Given the description of an element on the screen output the (x, y) to click on. 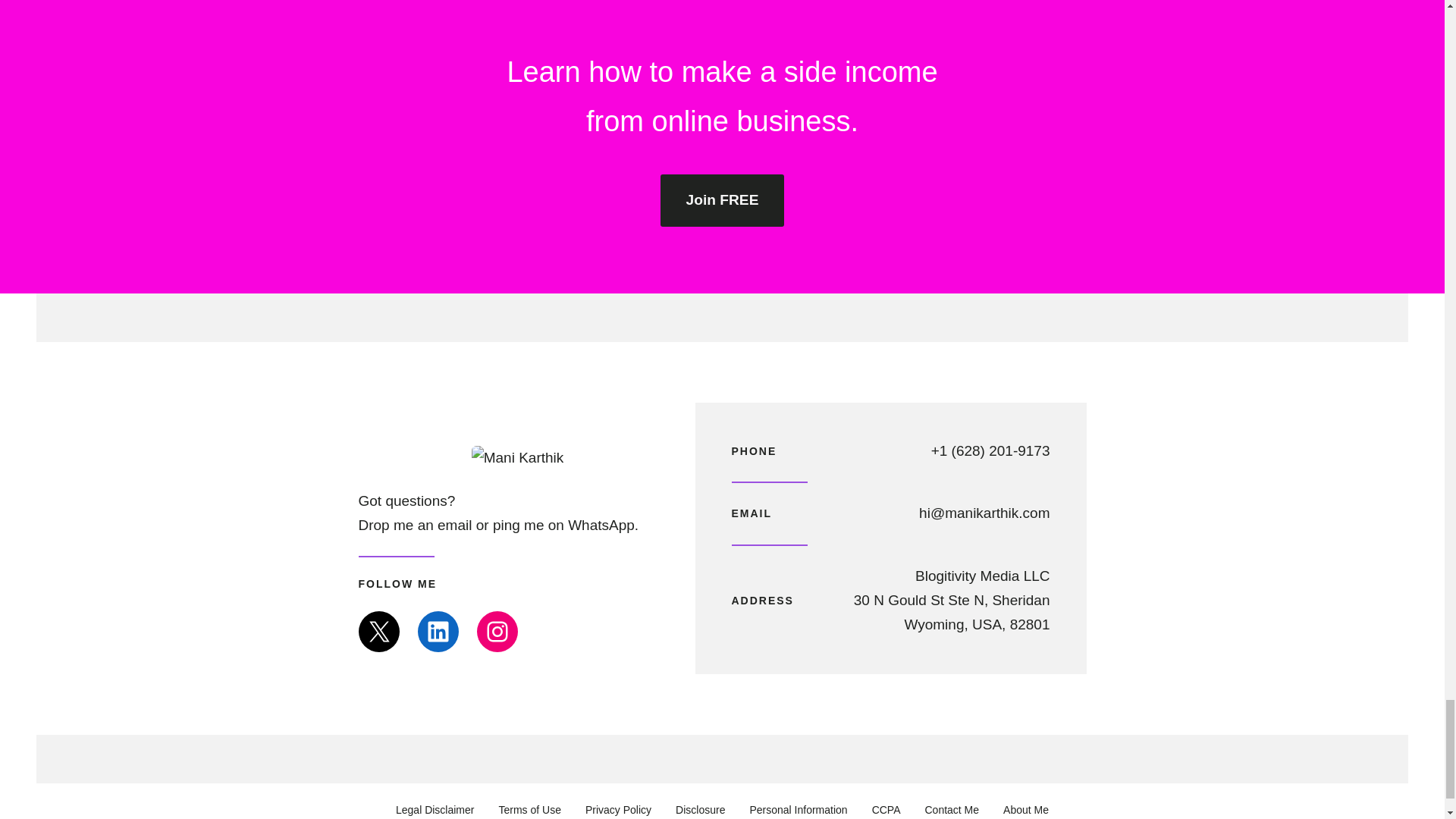
Legal Disclaimer (435, 809)
Privacy Policy (617, 809)
Disclosure (700, 809)
Terms of Use (528, 809)
X (378, 630)
Join FREE (722, 200)
LinkedIn (437, 630)
Instagram (496, 630)
